Given the description of an element on the screen output the (x, y) to click on. 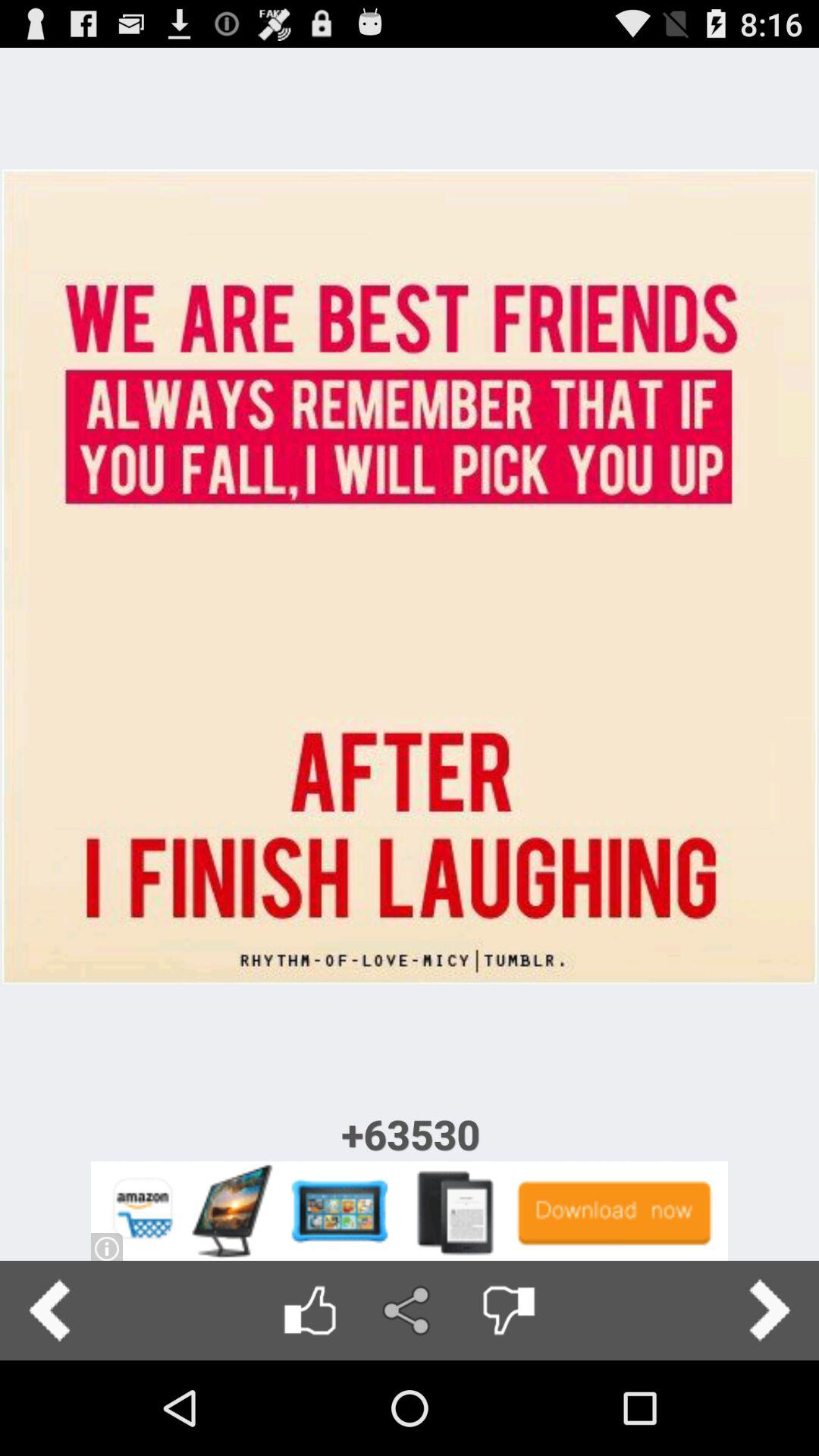
share image (408, 1310)
